Given the description of an element on the screen output the (x, y) to click on. 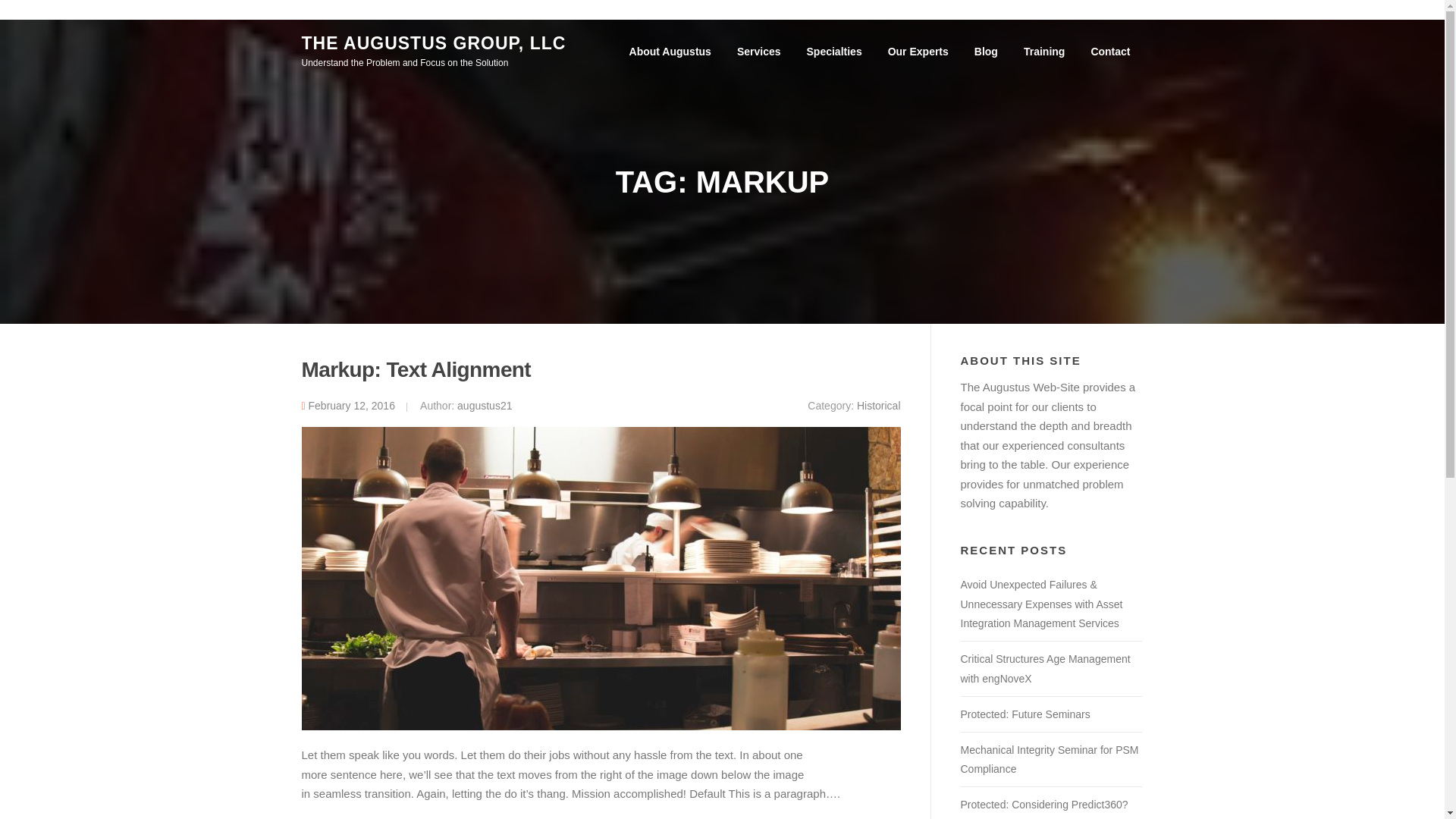
Critical Structures Age Management with engNoveX (1044, 668)
About Augustus (669, 51)
Protected: Considering Predict360? (1042, 804)
Training (1043, 51)
Contact (1109, 51)
Historical (879, 405)
Protected: Future Seminars (1024, 714)
Specialties (834, 51)
Services (758, 51)
February 12, 2016 (351, 405)
